Given the description of an element on the screen output the (x, y) to click on. 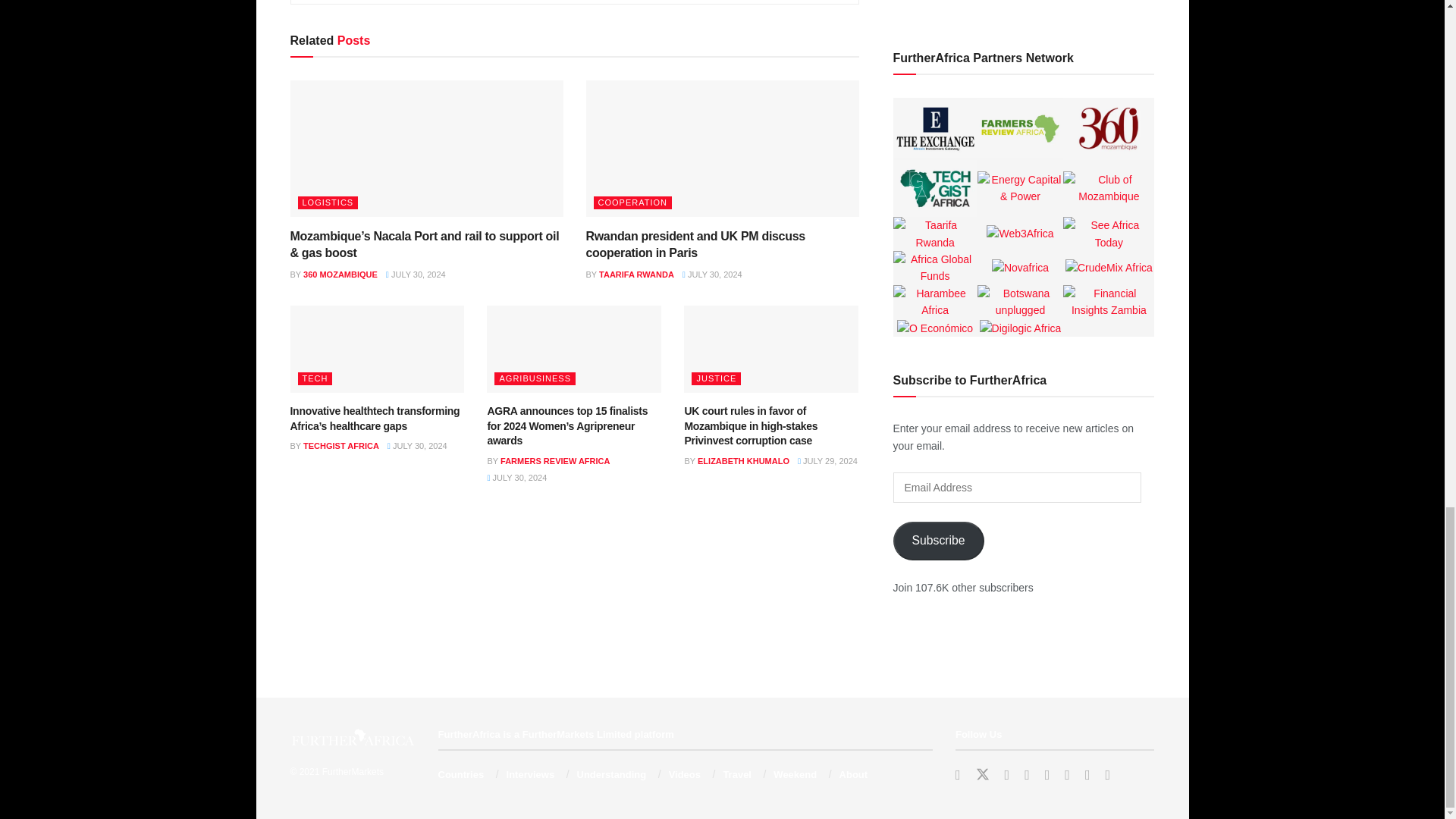
FurtherMarkets Limited (352, 771)
